Given the description of an element on the screen output the (x, y) to click on. 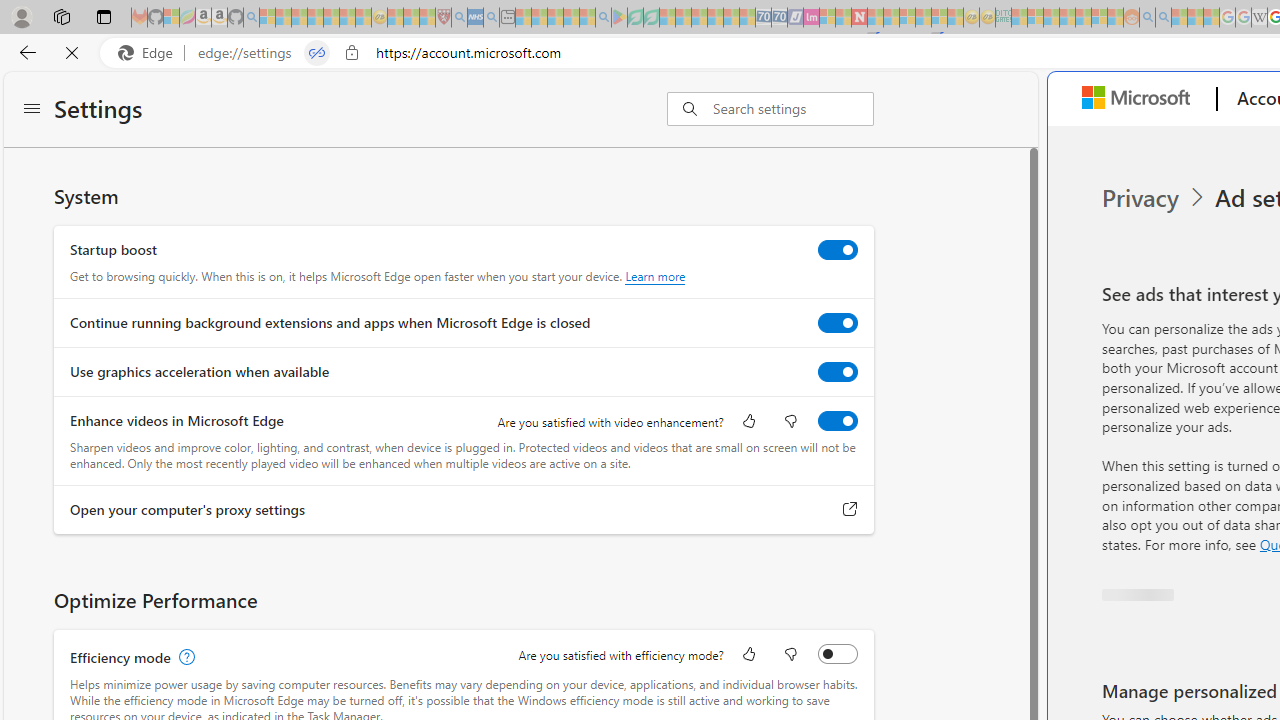
Expert Portfolios - Sleeping (1067, 17)
Bluey: Let's Play! - Apps on Google Play - Sleeping (619, 17)
Tabs in split screen (317, 53)
Search settings (791, 109)
The Weather Channel - MSN - Sleeping (299, 17)
Local - MSN - Sleeping (427, 17)
New Report Confirms 2023 Was Record Hot | Watch - Sleeping (331, 17)
MSNBC - MSN - Sleeping (1019, 17)
